Given the description of an element on the screen output the (x, y) to click on. 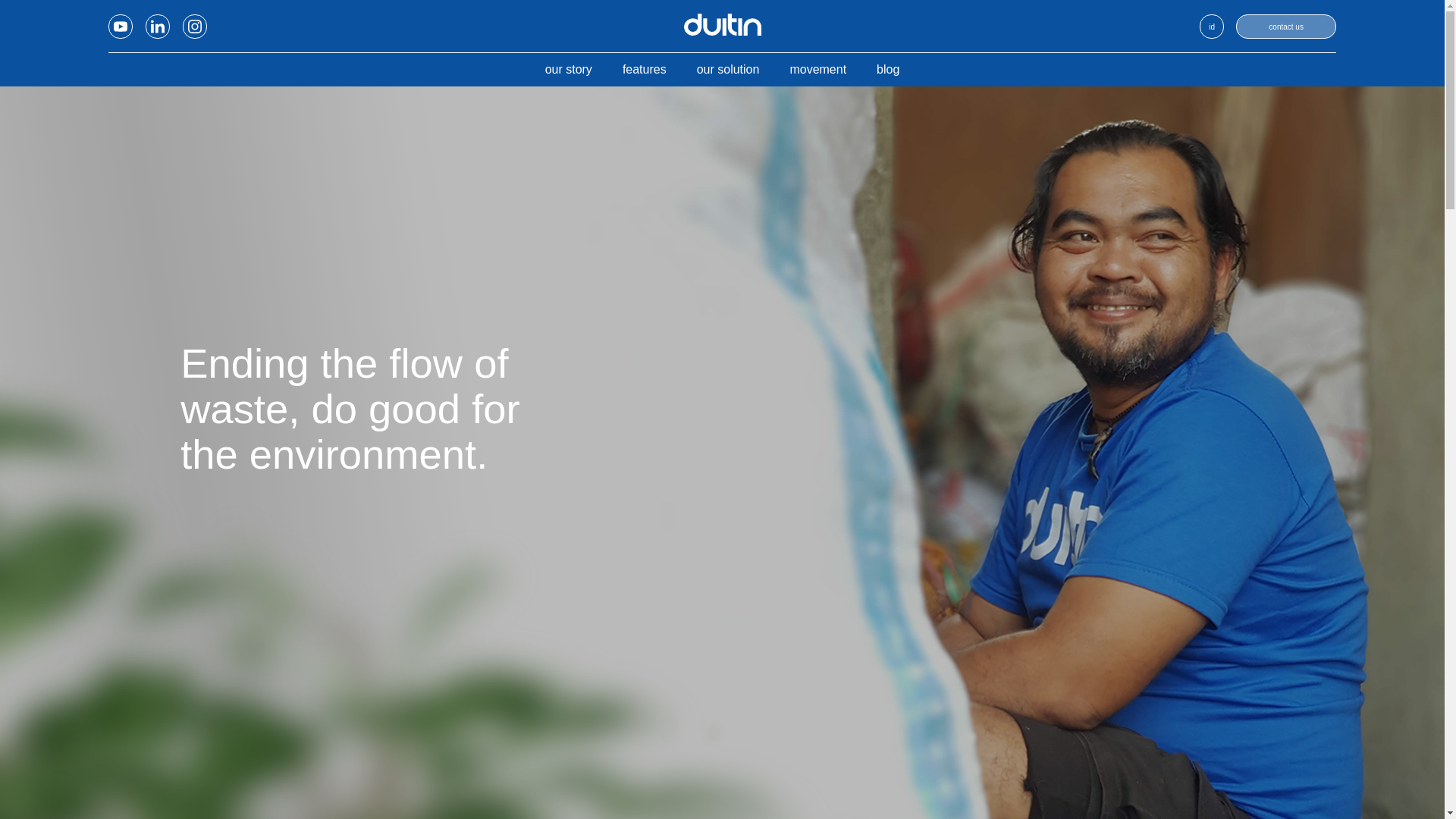
contact us (1286, 26)
movement (817, 69)
blog (887, 69)
features (644, 69)
our solution (728, 69)
our story (568, 69)
